Given the description of an element on the screen output the (x, y) to click on. 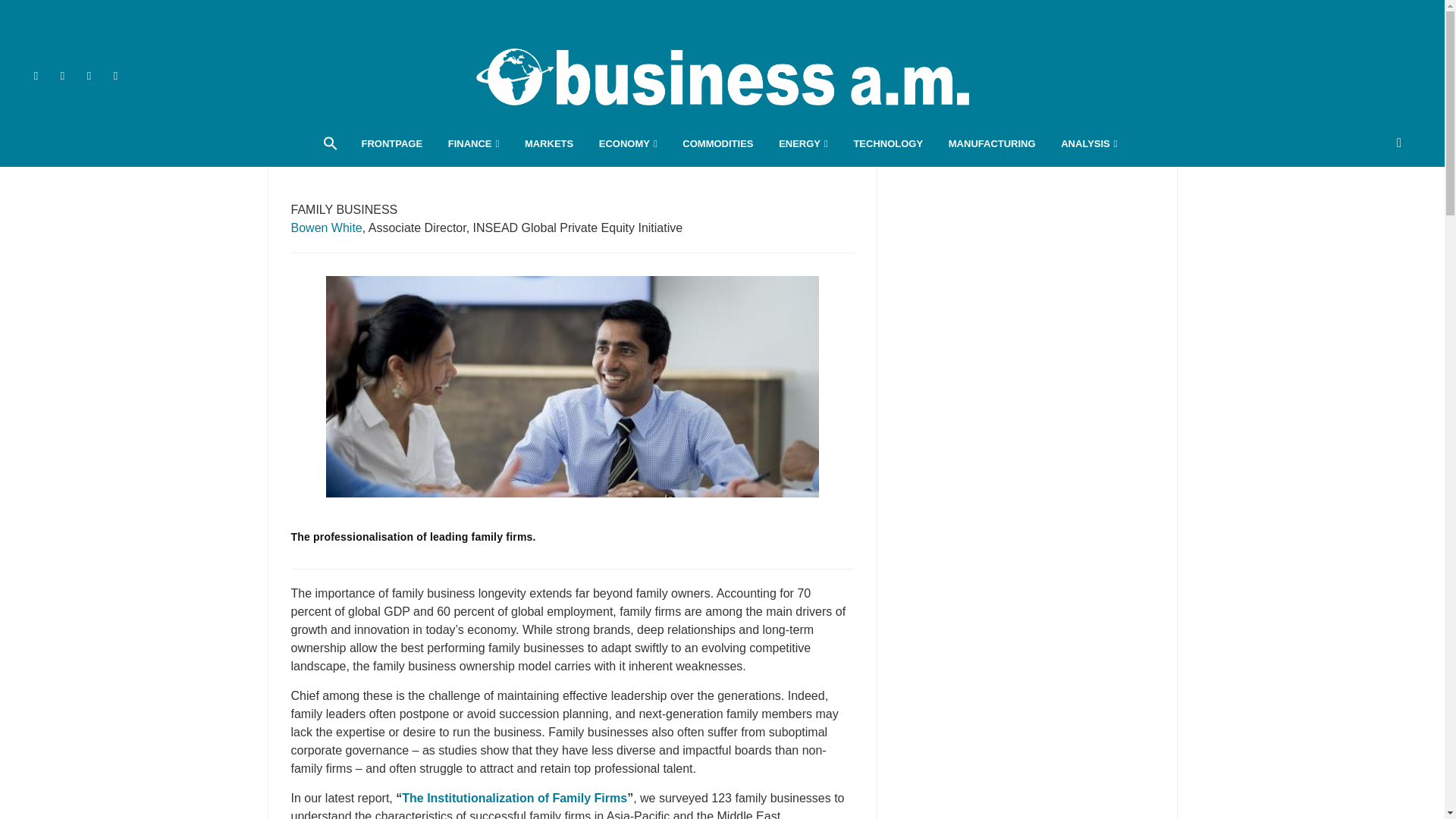
FINANCE (473, 144)
FRONTPAGE (391, 144)
Businessamlive (722, 76)
